Given the description of an element on the screen output the (x, y) to click on. 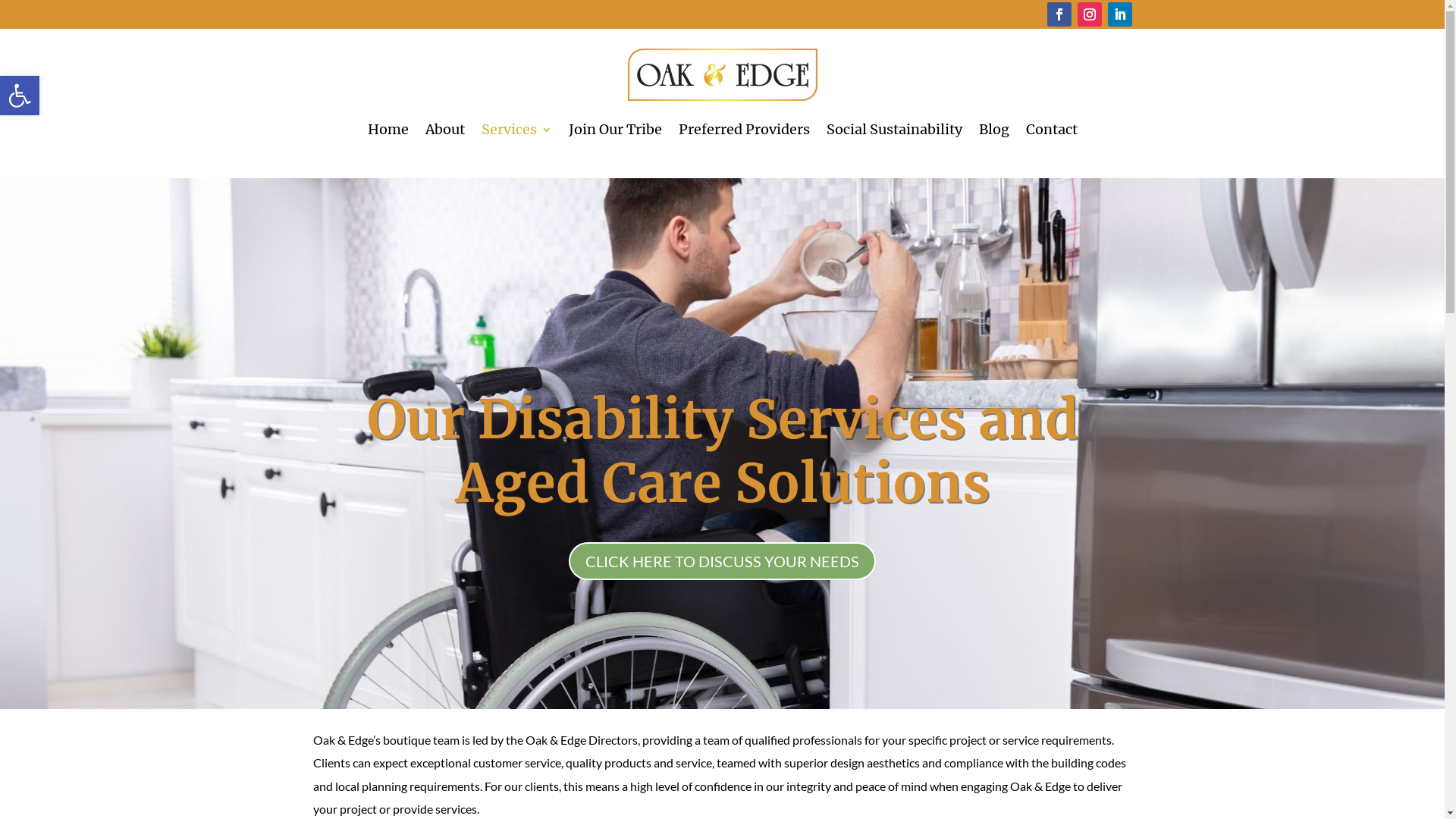
Join Our Tribe Element type: text (615, 129)
Social Sustainability Element type: text (894, 129)
Services Element type: text (515, 129)
Open toolbar
Accessibility Tools Element type: text (19, 95)
Follow on LinkedIn Element type: hover (1119, 14)
Preferred Providers Element type: text (743, 129)
About Element type: text (444, 129)
CLICK HERE TO DISCUSS YOUR NEEDS Element type: text (721, 561)
Follow on Facebook Element type: hover (1058, 14)
Follow on Instagram Element type: hover (1088, 14)
Home Element type: text (387, 129)
Contact Element type: text (1050, 129)
Blog Element type: text (993, 129)
